Given the description of an element on the screen output the (x, y) to click on. 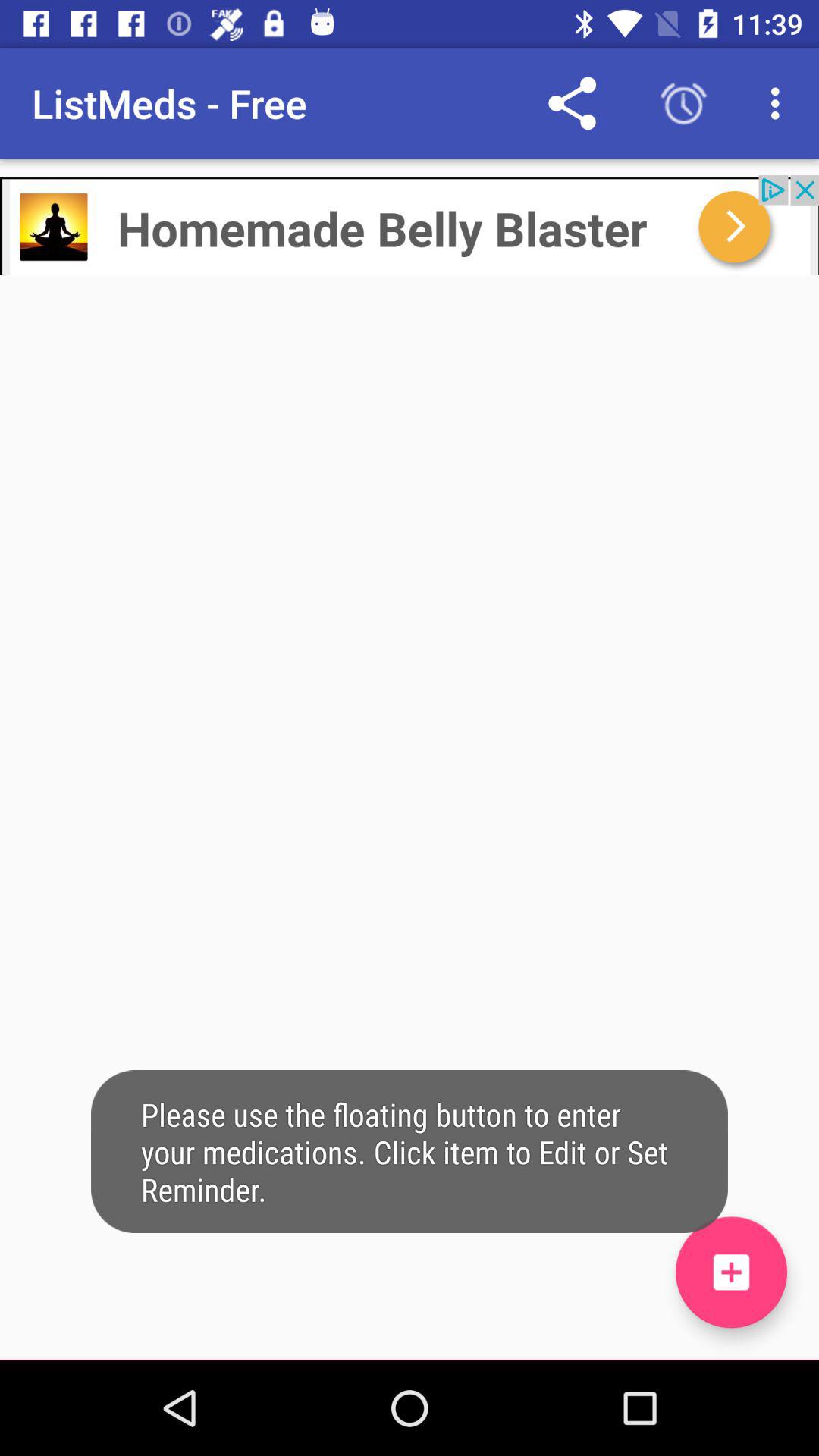
add page (731, 1272)
